Given the description of an element on the screen output the (x, y) to click on. 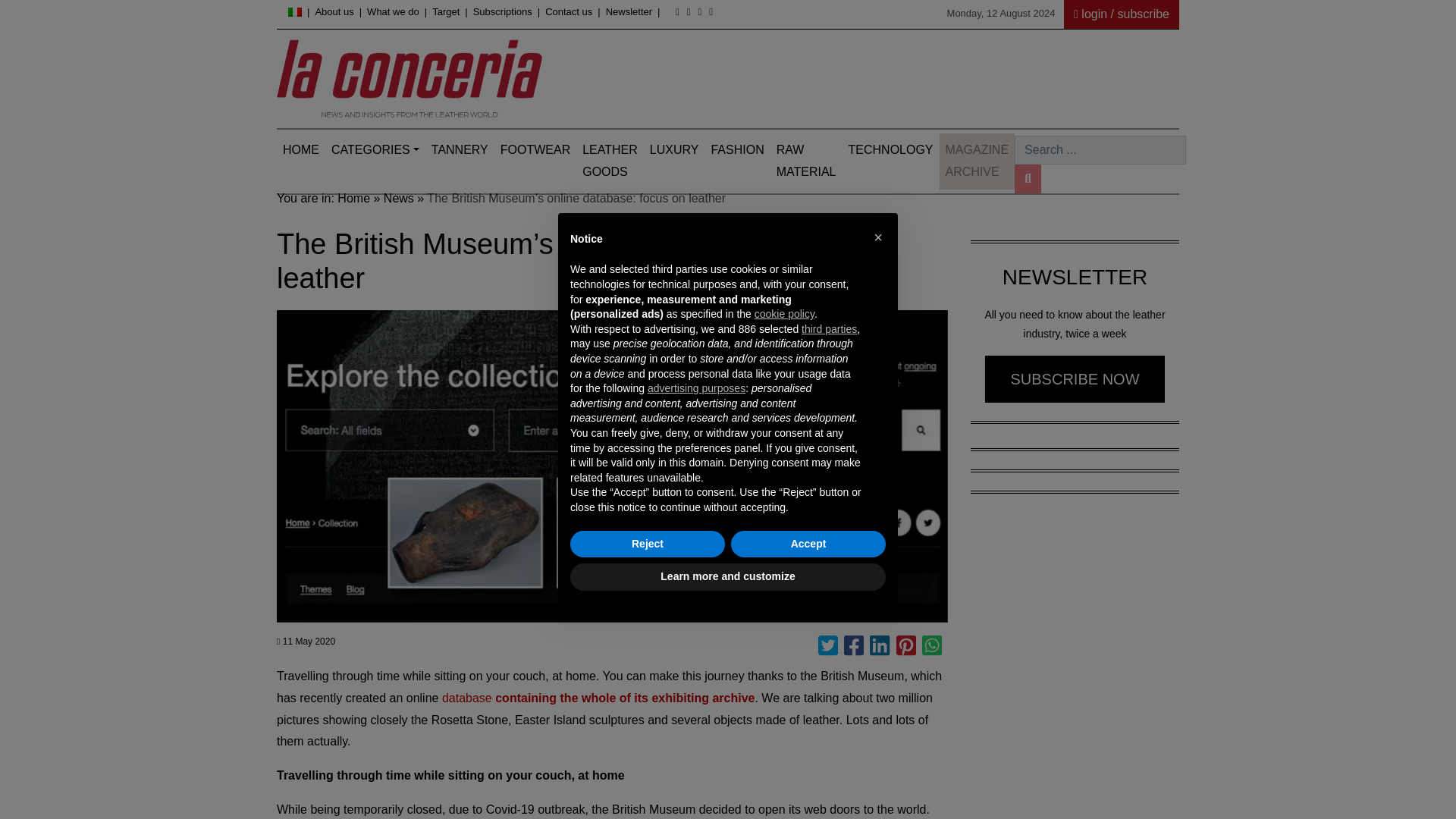
TECHNOLOGY (891, 150)
Fashion (737, 150)
HOME (300, 150)
Newsletter (628, 11)
Subscriptions (502, 11)
Footwear (535, 150)
FOOTWEAR (535, 150)
Leather goods (609, 161)
TANNERY (460, 150)
RAW MATERIAL (806, 161)
